Given the description of an element on the screen output the (x, y) to click on. 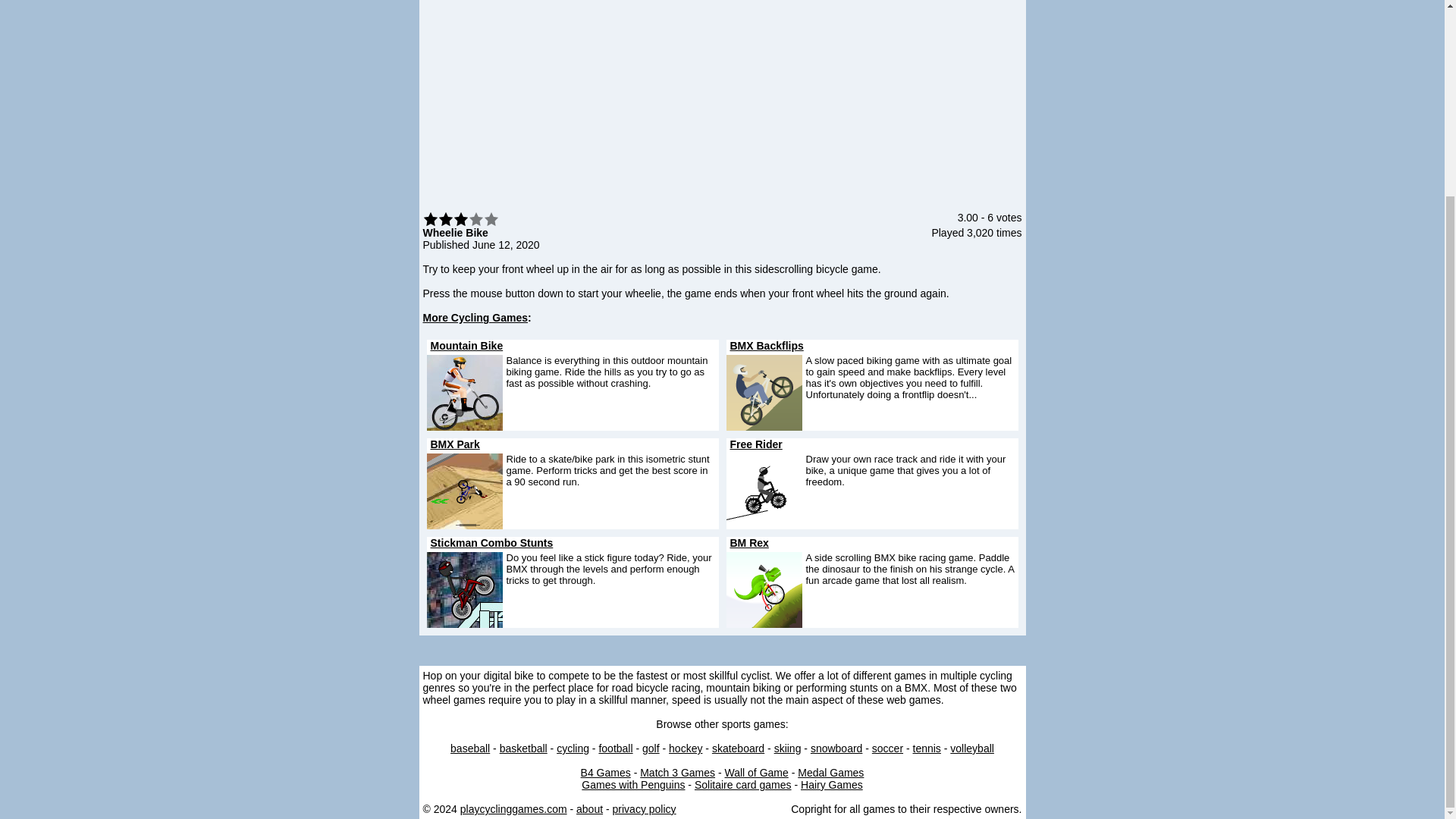
3 (445, 218)
5 stars out of 5 (461, 218)
2 (437, 218)
Free Rider (755, 444)
BM Rex (748, 542)
golf (650, 748)
BMX Backflips (766, 345)
2 stars out of 5 (437, 218)
football (614, 748)
hockey (684, 748)
